Given the description of an element on the screen output the (x, y) to click on. 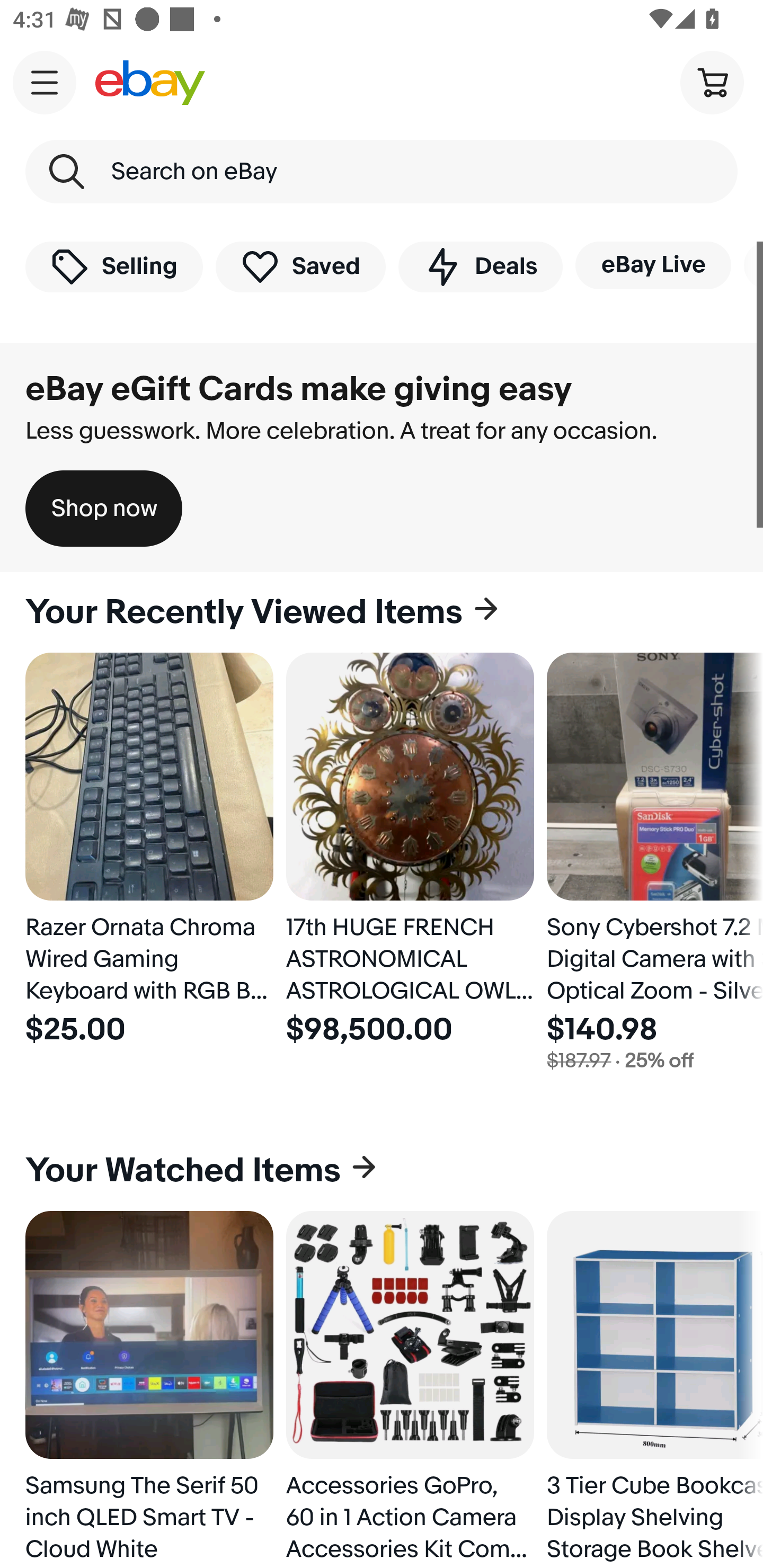
Main navigation, open (44, 82)
Cart button shopping cart (711, 81)
Search on eBay Search Keyword Search on eBay (381, 171)
Selling (113, 266)
Saved (300, 266)
Deals (480, 266)
eBay Live (652, 264)
eBay eGift Cards make giving easy (298, 389)
Shop now (103, 508)
Your Recently Viewed Items   (381, 612)
Your Watched Items   (381, 1170)
